Given the description of an element on the screen output the (x, y) to click on. 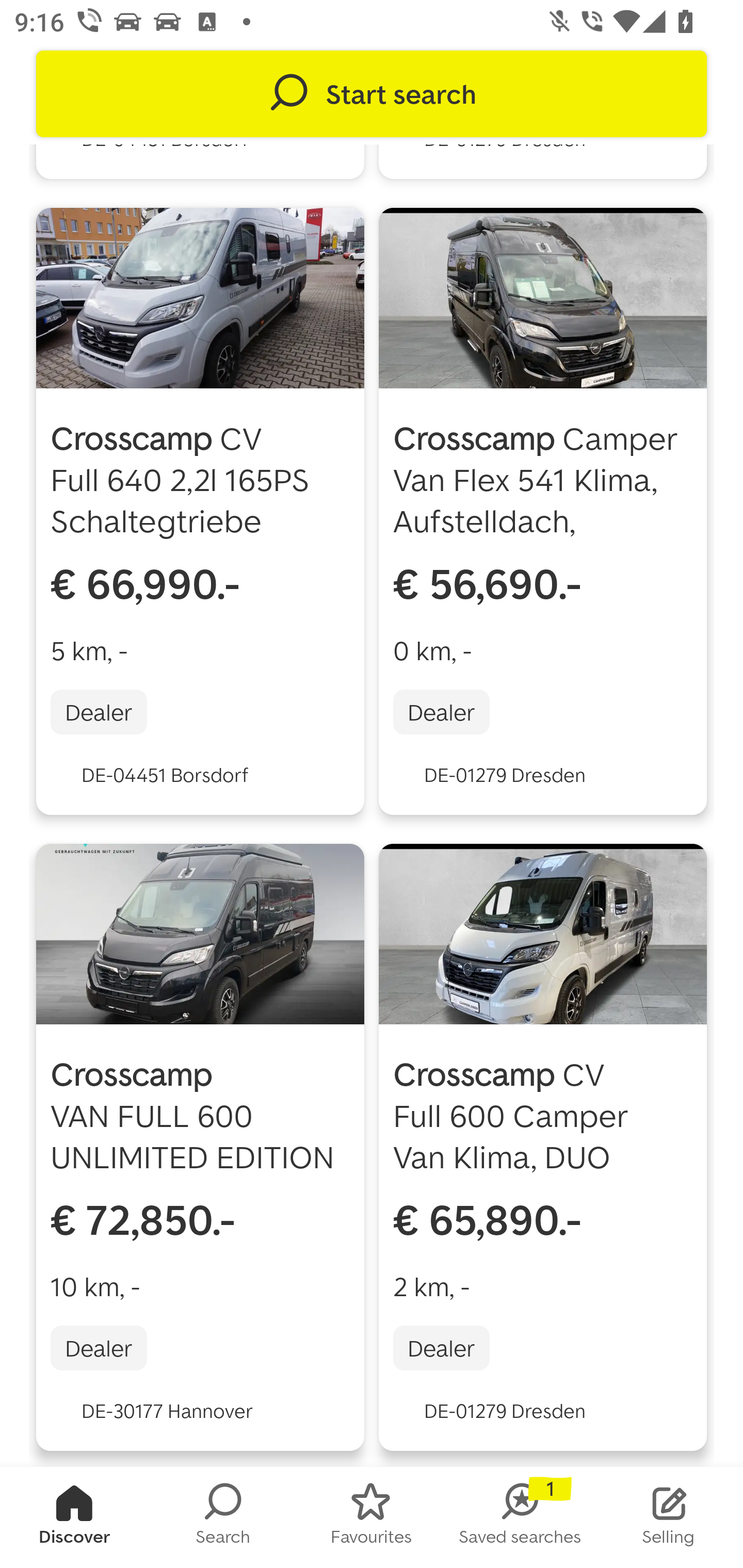
Start search (371, 93)
HOMESCREEN Discover (74, 1517)
SEARCH Search (222, 1517)
FAVORITES Favourites (371, 1517)
SAVED_SEARCHES Saved searches 1 (519, 1517)
STOCK_LIST Selling (668, 1517)
